Given the description of an element on the screen output the (x, y) to click on. 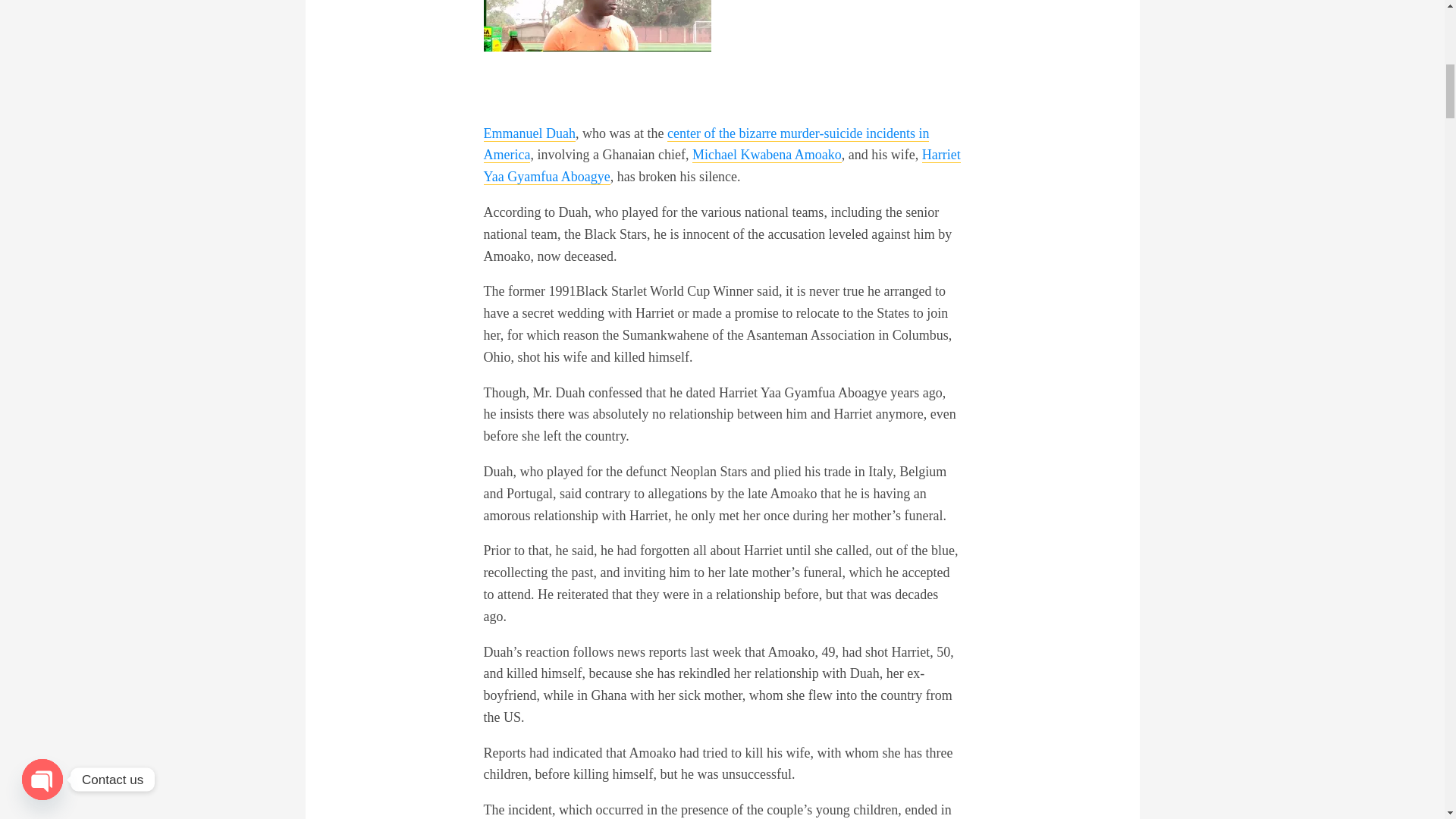
Harriet Yaa Gyamfua Aboagye (721, 166)
Emmanuel Duah (529, 133)
Michael Kwabena Amoako (767, 154)
center of the bizarre murder-suicide incidents in America (706, 144)
